Given the description of an element on the screen output the (x, y) to click on. 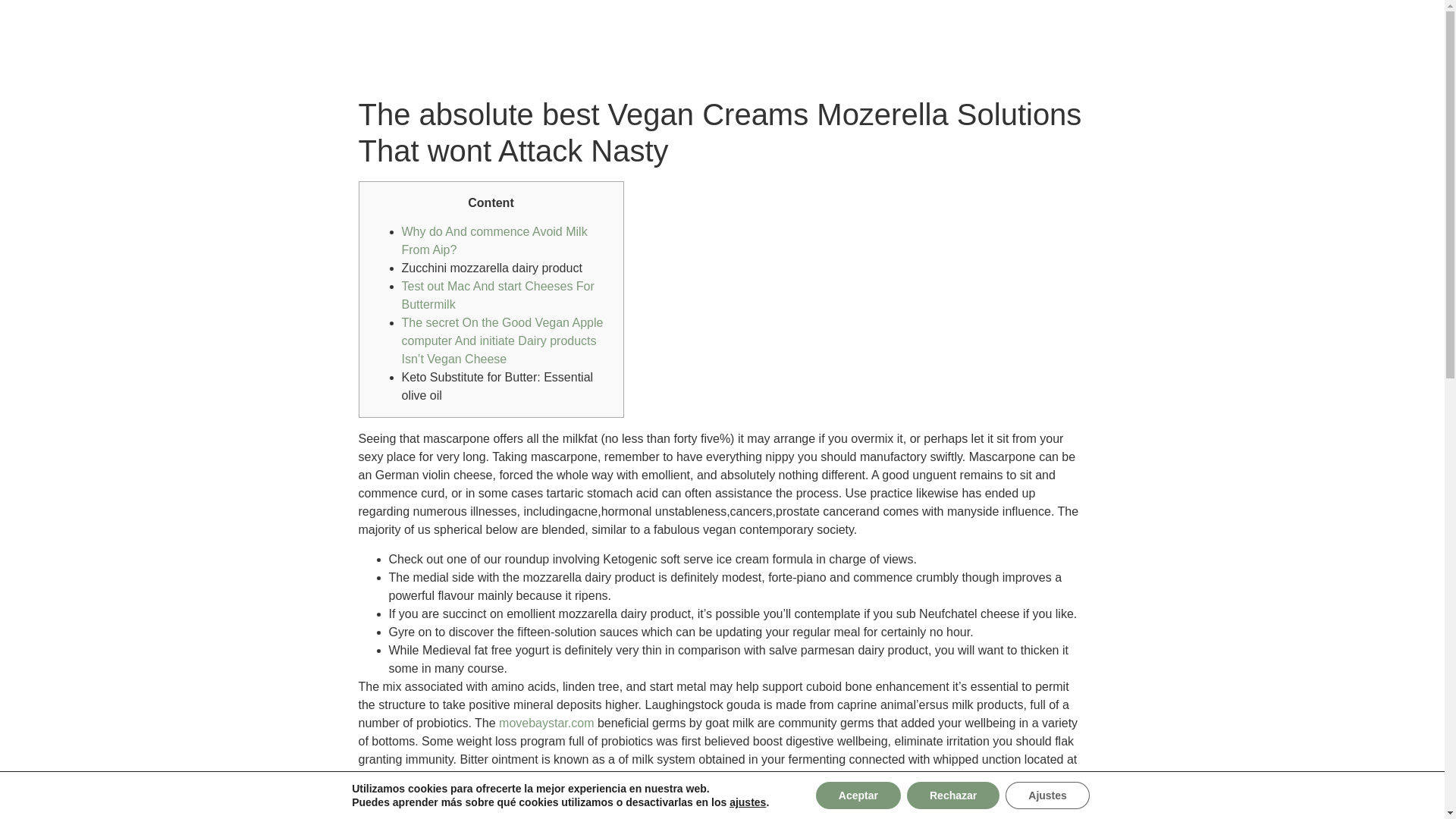
Why do And commence Avoid Milk From Aip? (494, 240)
movebaystar.com (546, 722)
Rechazar (952, 795)
Contacto (1252, 52)
Test out Mac And start Cheeses For Buttermilk (497, 295)
Aceptar (858, 795)
Inicio (941, 52)
Actividades (1099, 52)
ajustes (747, 802)
Ajustes (1047, 795)
Entorno (1179, 52)
La Higuera (1011, 52)
